Given the description of an element on the screen output the (x, y) to click on. 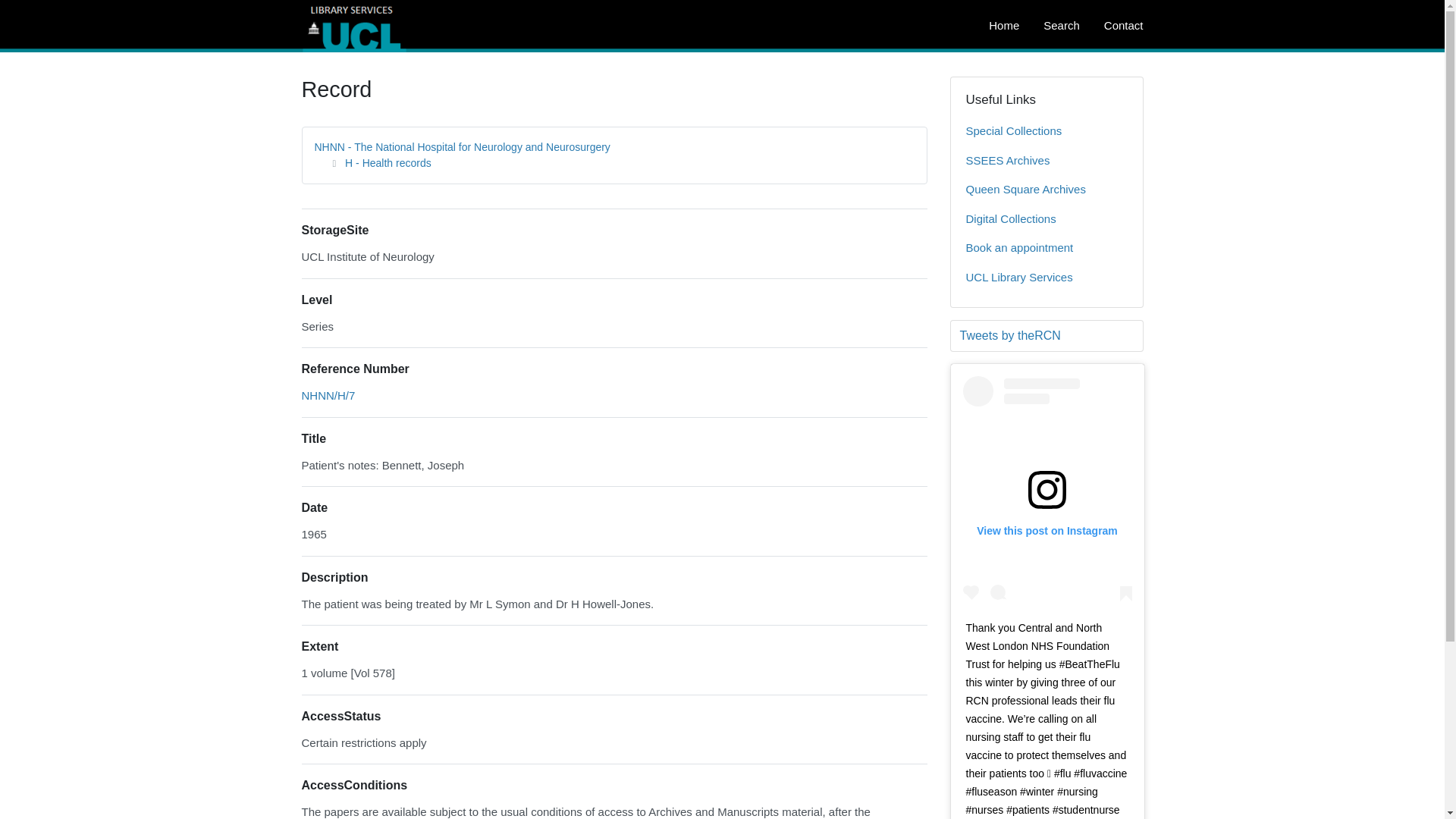
H - Health records (387, 162)
Browse record in hierarchy. (328, 395)
UCL Library Services (1046, 277)
Special Collections (1046, 131)
Book an appointment (1046, 247)
Queen Square Archives (1046, 189)
Tweets by theRCN (1046, 335)
SSEES Archives (1046, 161)
NHNN - The National Hospital for Neurology and Neurosurgery (462, 146)
Digital Collections (1046, 219)
